Given the description of an element on the screen output the (x, y) to click on. 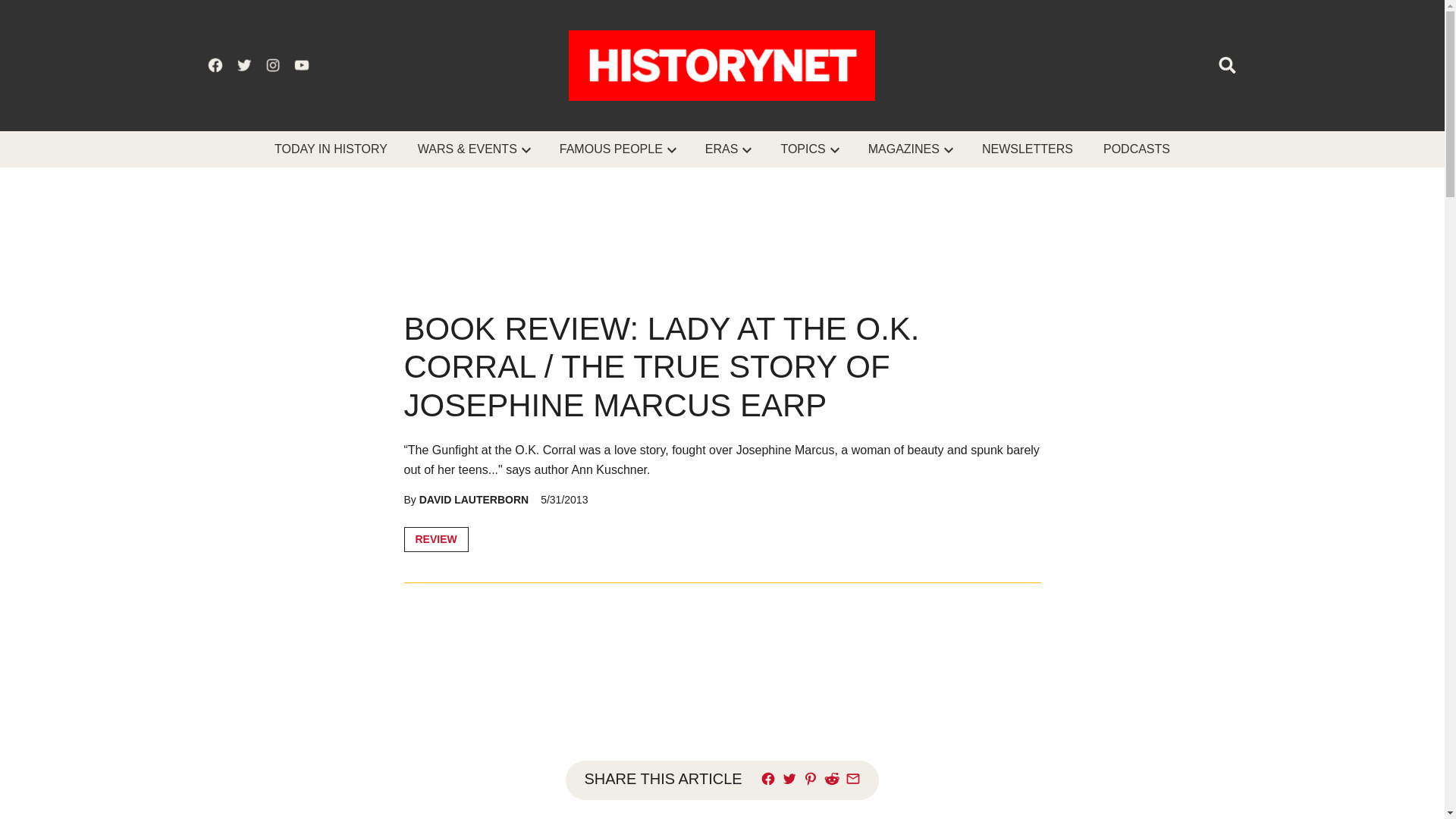
Audio Article  (721, 666)
